Given the description of an element on the screen output the (x, y) to click on. 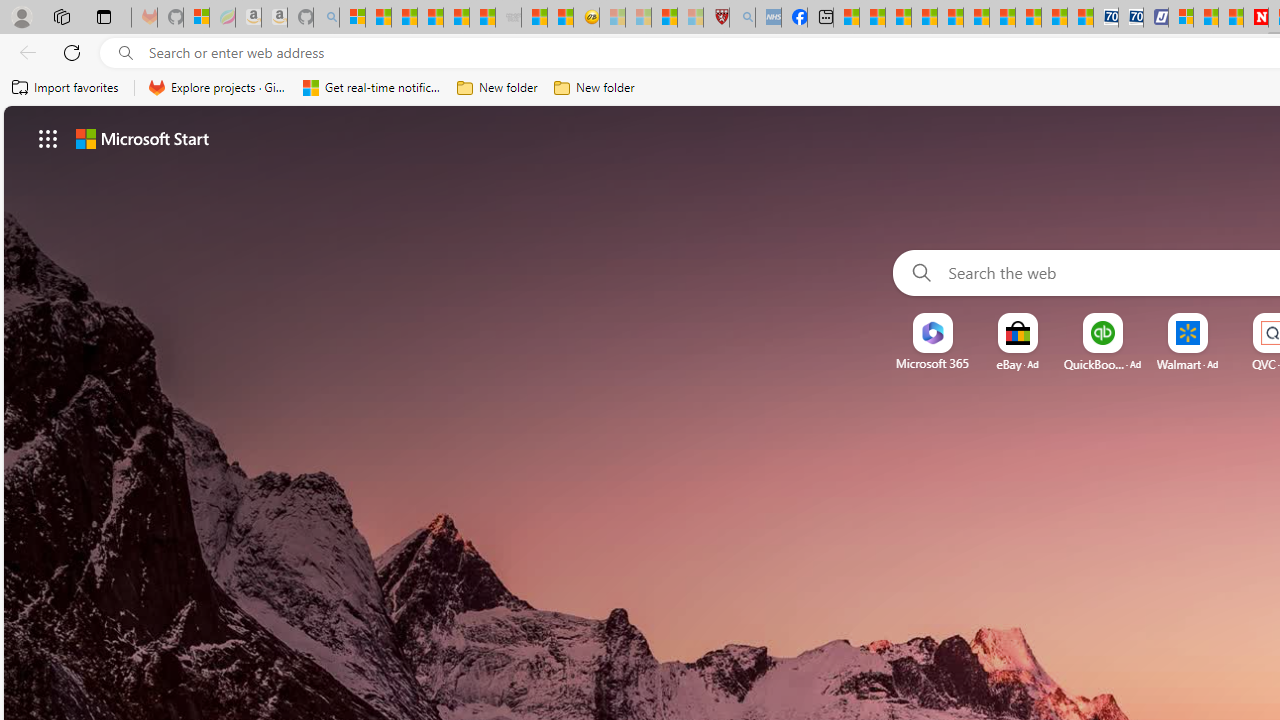
The Weather Channel - MSN (404, 17)
Microsoft start (142, 138)
Search icon (125, 53)
